Given the description of an element on the screen output the (x, y) to click on. 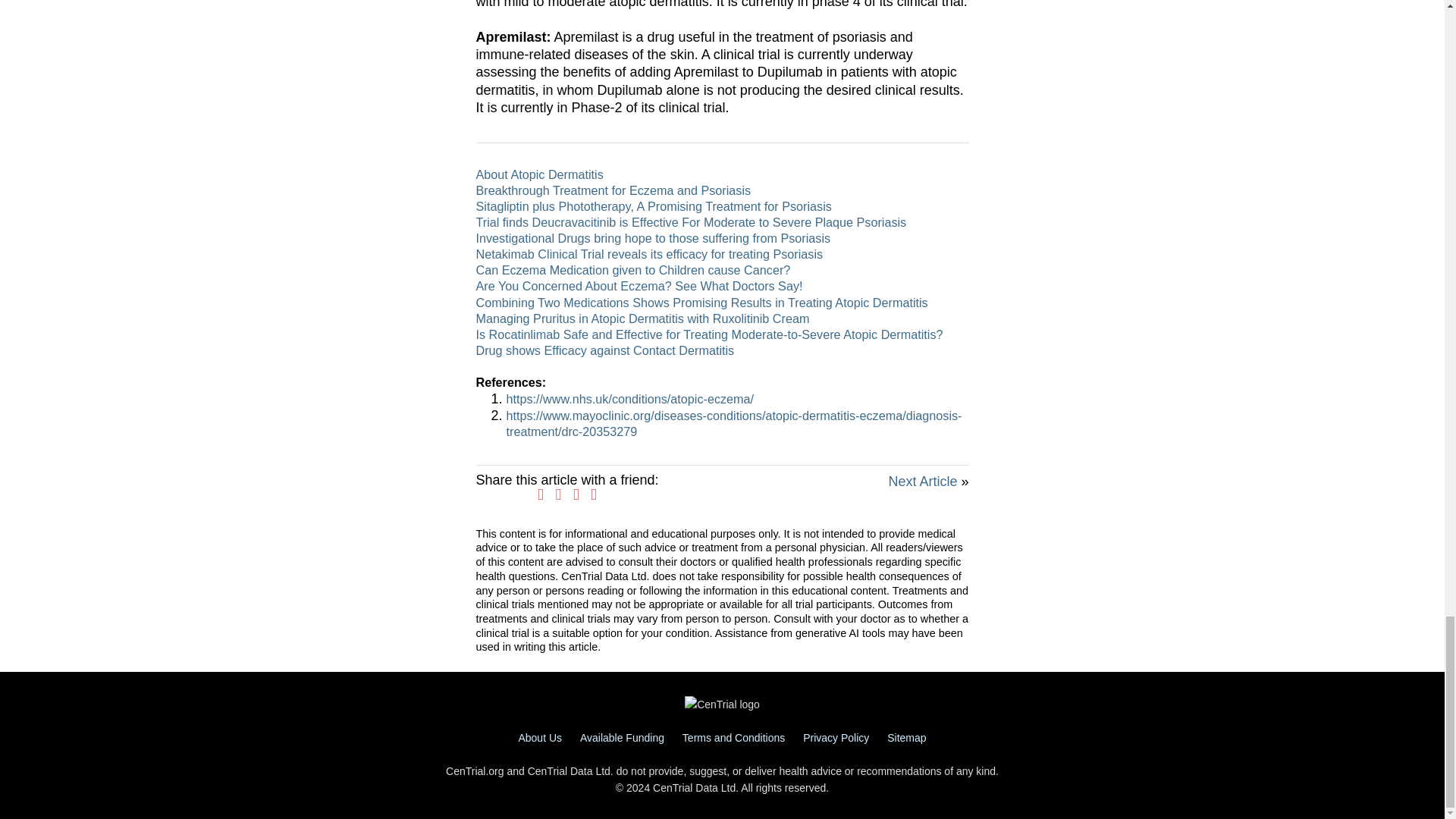
Available Funding (621, 737)
Twitter (559, 494)
Breakthrough Treatment for Eczema and Psoriasis (613, 190)
Next Article (922, 481)
About Us (540, 737)
Sitemap (906, 737)
Terms and Conditions (733, 737)
Share on Facebook (540, 494)
Privacy Policy (836, 737)
Can Eczema Medication given to Children cause Cancer? (633, 269)
Are You Concerned About Eczema? See What Doctors Say! (639, 285)
